Given the description of an element on the screen output the (x, y) to click on. 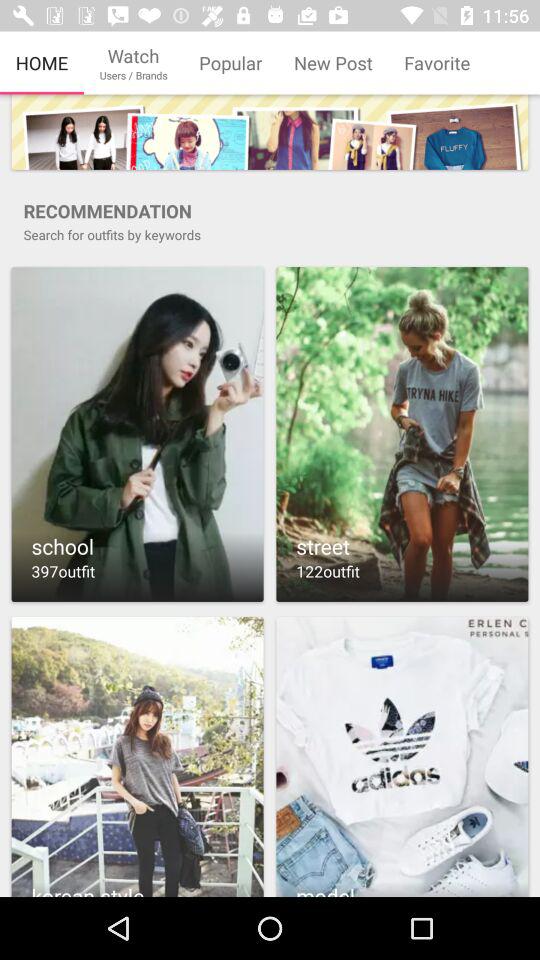
picture (137, 756)
